Given the description of an element on the screen output the (x, y) to click on. 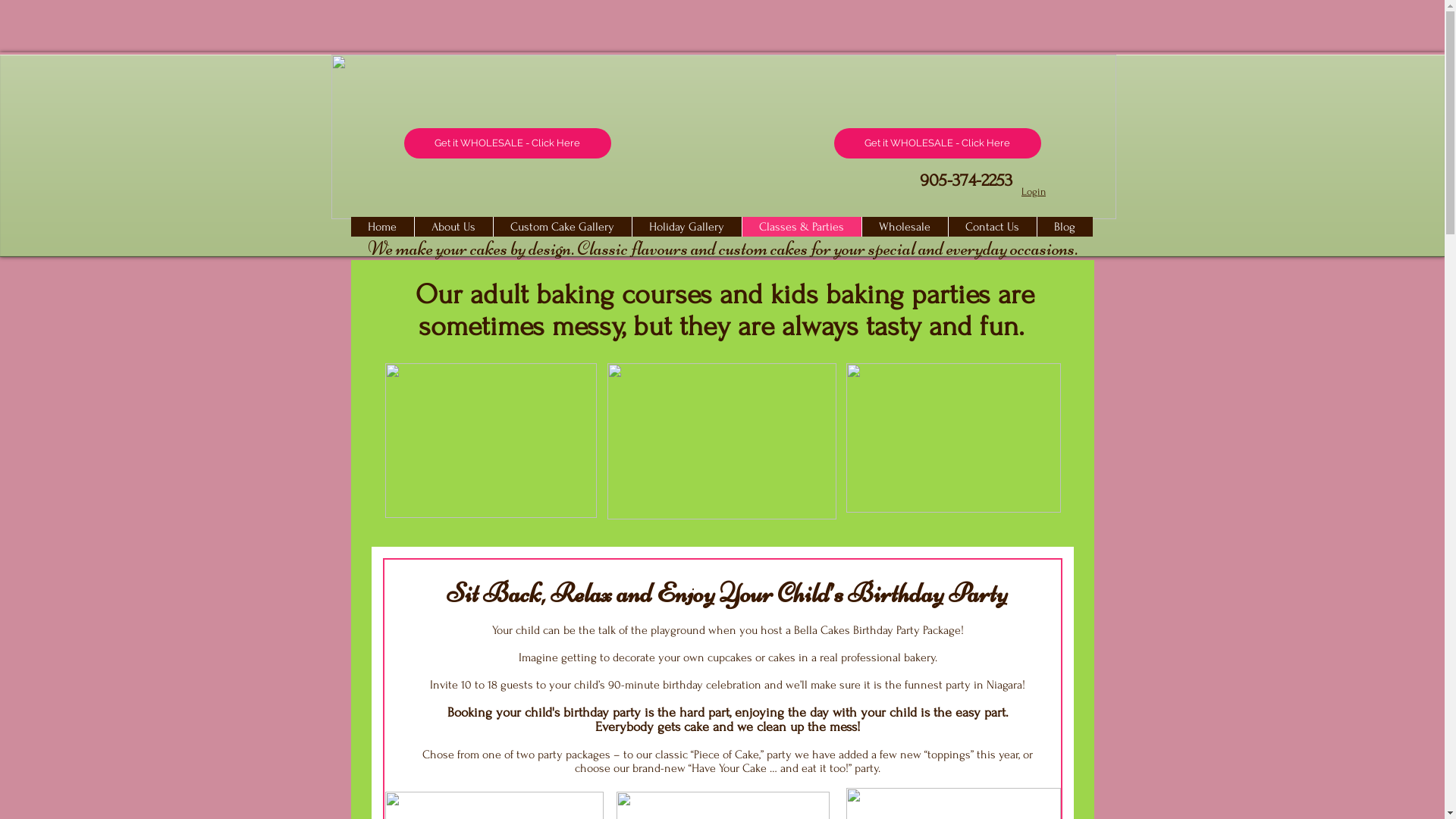
Classes & Parties Element type: text (801, 226)
Get it WHOLESALE - Click Here Element type: text (506, 143)
Custom Cake Gallery Element type: text (561, 226)
Get it WHOLESALE - Click Here Element type: text (937, 143)
Home Element type: text (381, 226)
Holiday Gallery Element type: text (685, 226)
Blog Element type: text (1063, 226)
Wholesale Element type: text (904, 226)
Contact Us Element type: text (991, 226)
About Us Element type: text (453, 226)
Login Element type: text (1033, 191)
